Given the description of an element on the screen output the (x, y) to click on. 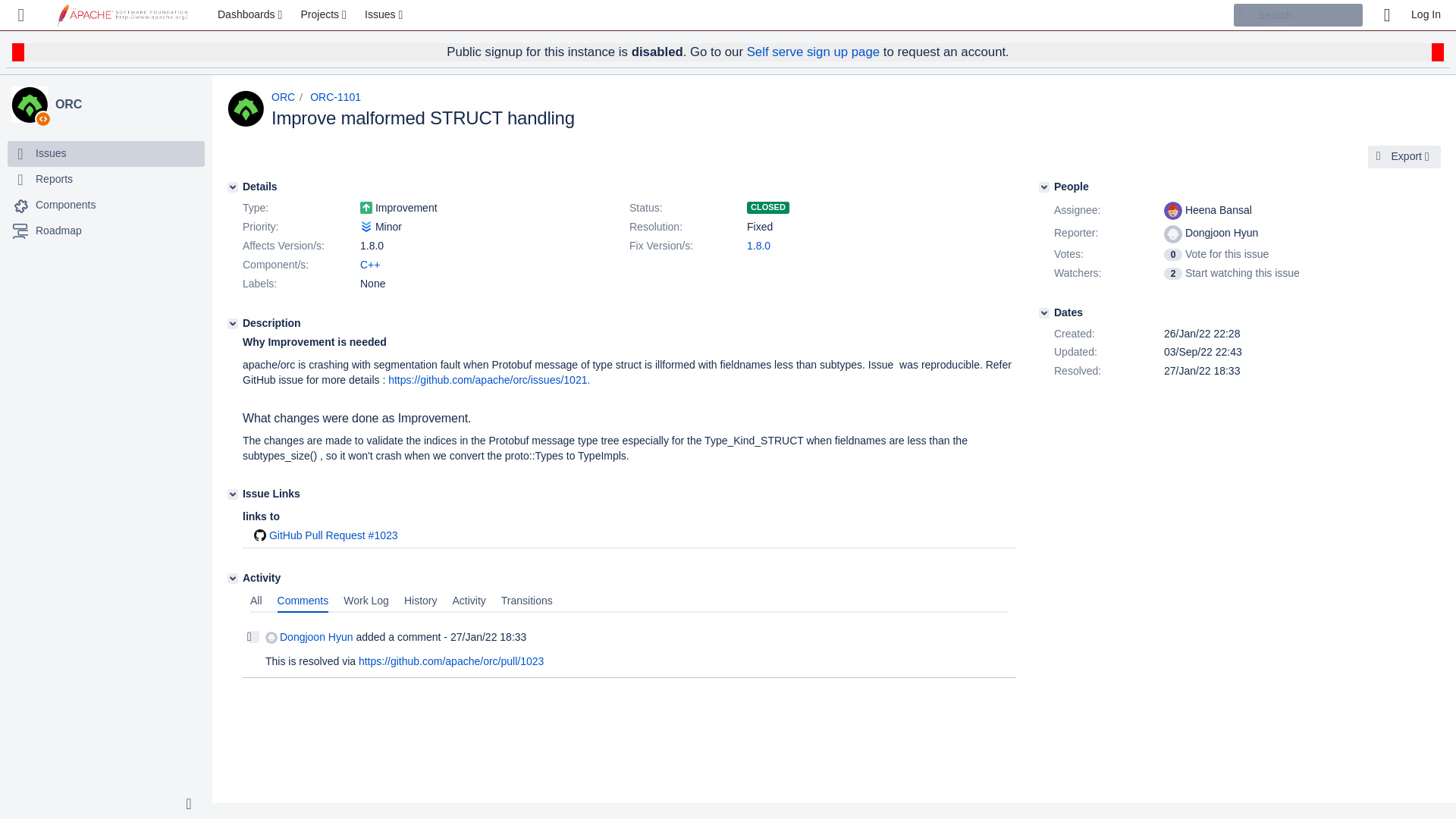
ORC-1101 (335, 96)
1.8.0 (758, 245)
Projects (324, 15)
Type (299, 208)
ORC (29, 104)
View and manage your dashboards (251, 15)
Log In (1425, 15)
Linked Applications (20, 15)
Roadmap (106, 231)
Components (106, 205)
